Given the description of an element on the screen output the (x, y) to click on. 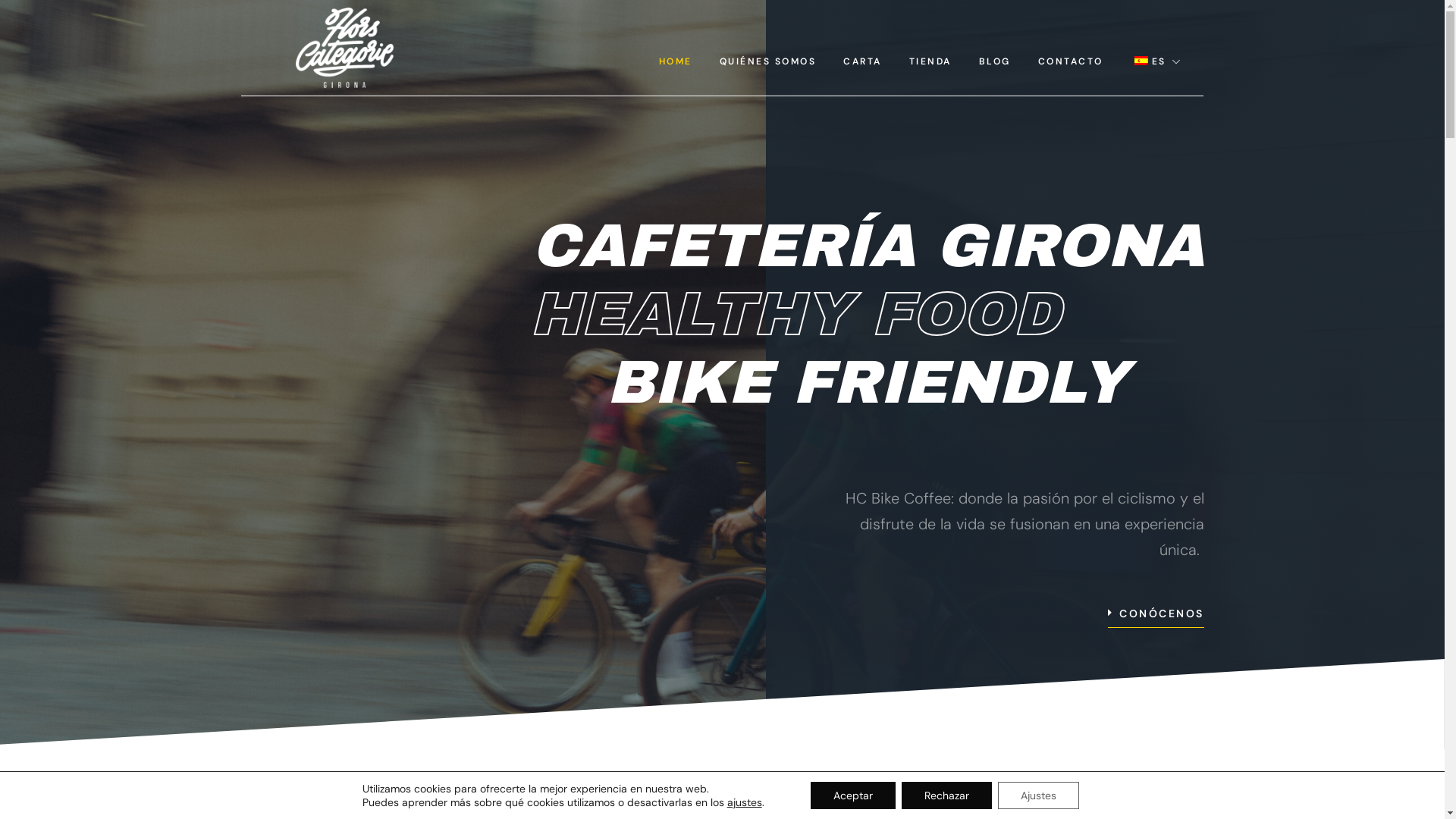
Saltar al contenido Element type: text (11, 31)
Rechazar Element type: text (946, 795)
Spanish Element type: hover (1141, 60)
CARTA Element type: text (862, 61)
Ajustes Element type: text (1038, 795)
ajustes Element type: text (744, 802)
TIENDA Element type: text (930, 61)
ES Element type: text (1156, 61)
BLOG Element type: text (994, 61)
Aceptar Element type: text (852, 795)
CONTACTO Element type: text (1070, 61)
HOME Element type: text (675, 61)
